Given the description of an element on the screen output the (x, y) to click on. 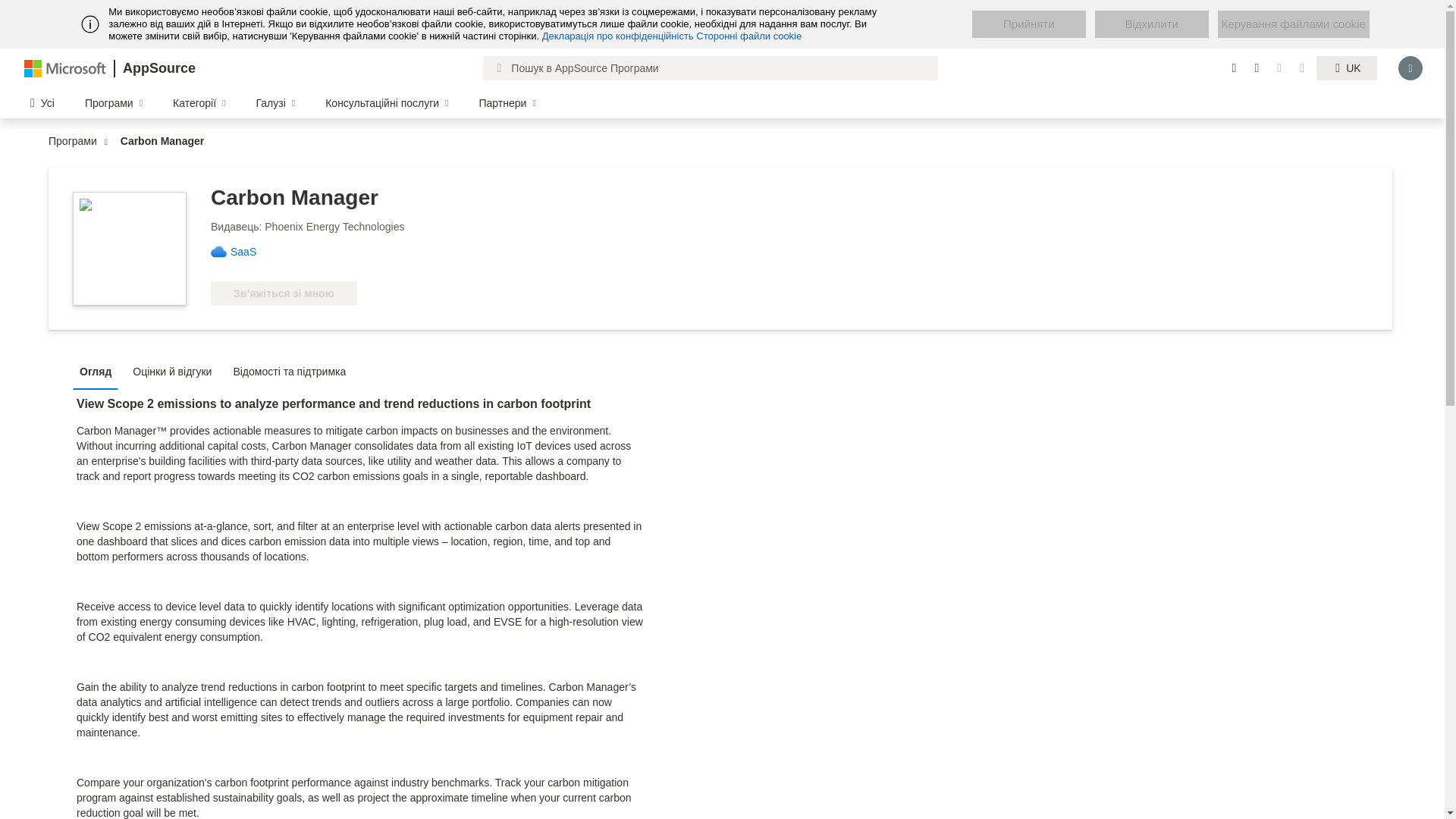
SaaS (248, 251)
Microsoft (65, 67)
SaaS (248, 251)
AppSource (158, 67)
